Given the description of an element on the screen output the (x, y) to click on. 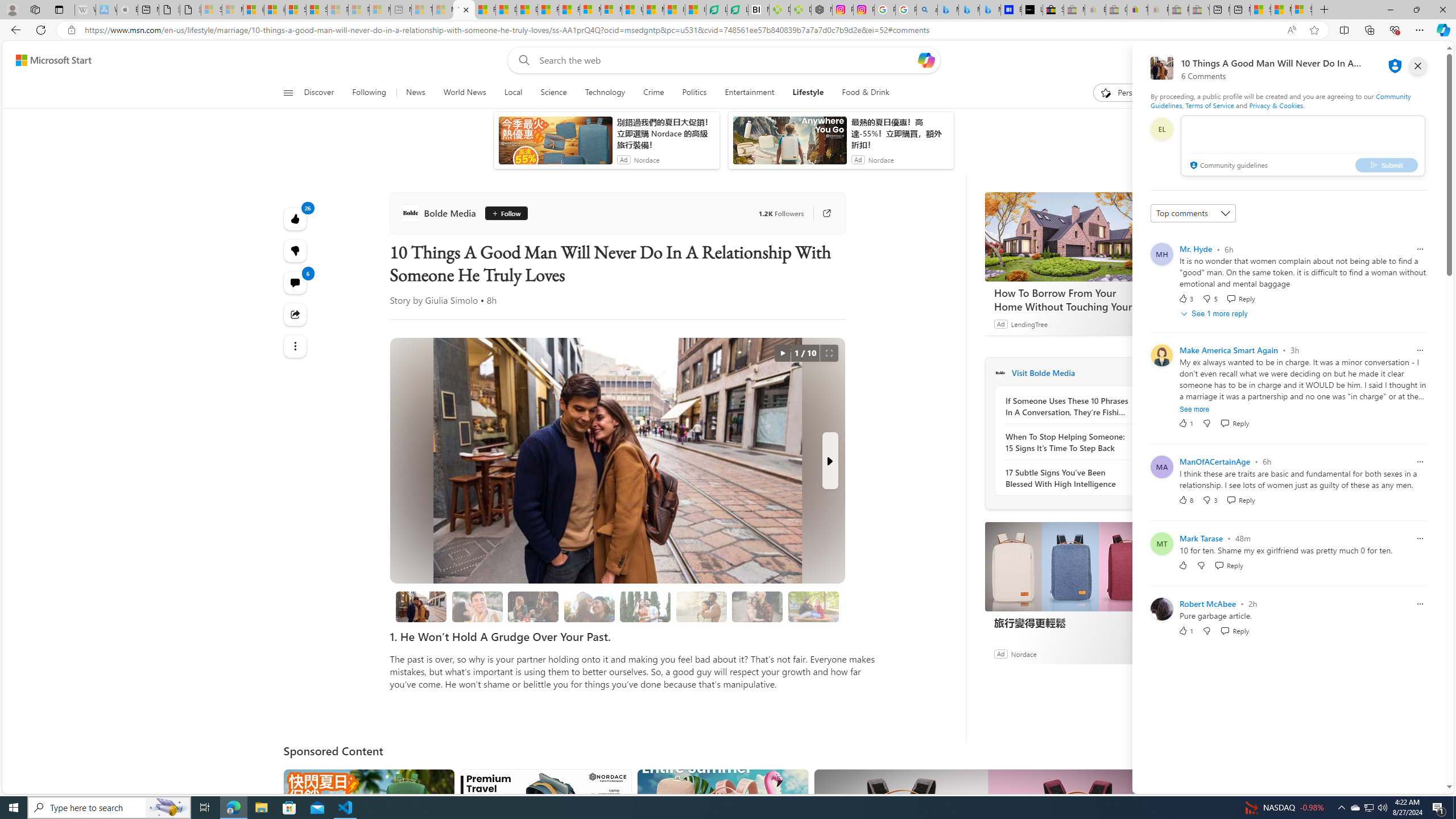
Crime (653, 92)
alabama high school quarterback dies - Search (926, 9)
Descarga Driver Updater (800, 9)
Sort comments by (1193, 212)
Mark Tarase (1201, 538)
Address and search bar (680, 29)
Food & Drink (860, 92)
LendingTree - Compare Lenders (737, 9)
Share this story (295, 314)
Robert McAbee (1207, 603)
